Given the description of an element on the screen output the (x, y) to click on. 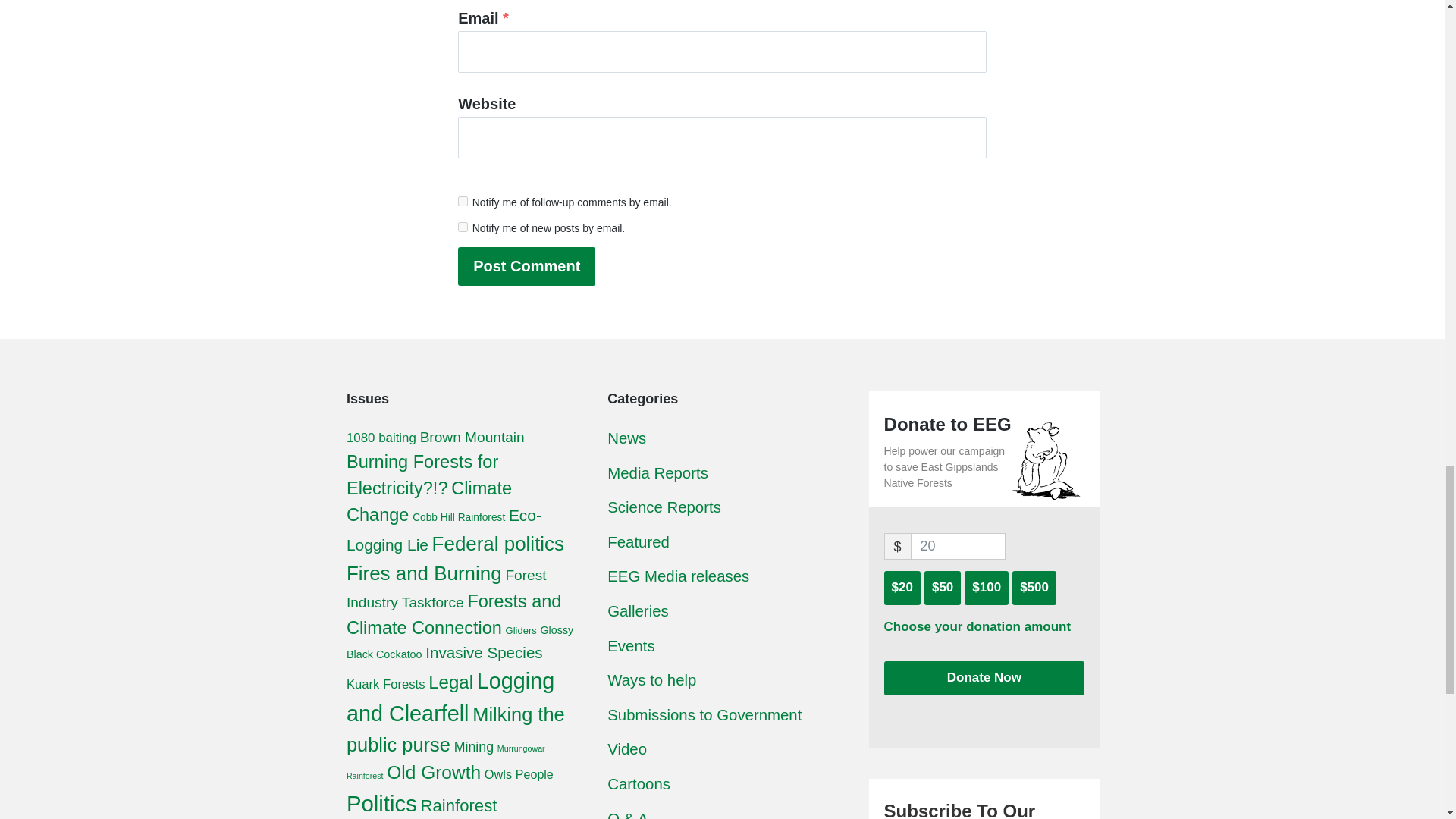
Choose your donation amount (977, 627)
subscribe (462, 226)
Post Comment (526, 266)
Post Comment (526, 266)
20 (958, 546)
subscribe (462, 201)
Donate Now (983, 677)
News (626, 437)
